Given the description of an element on the screen output the (x, y) to click on. 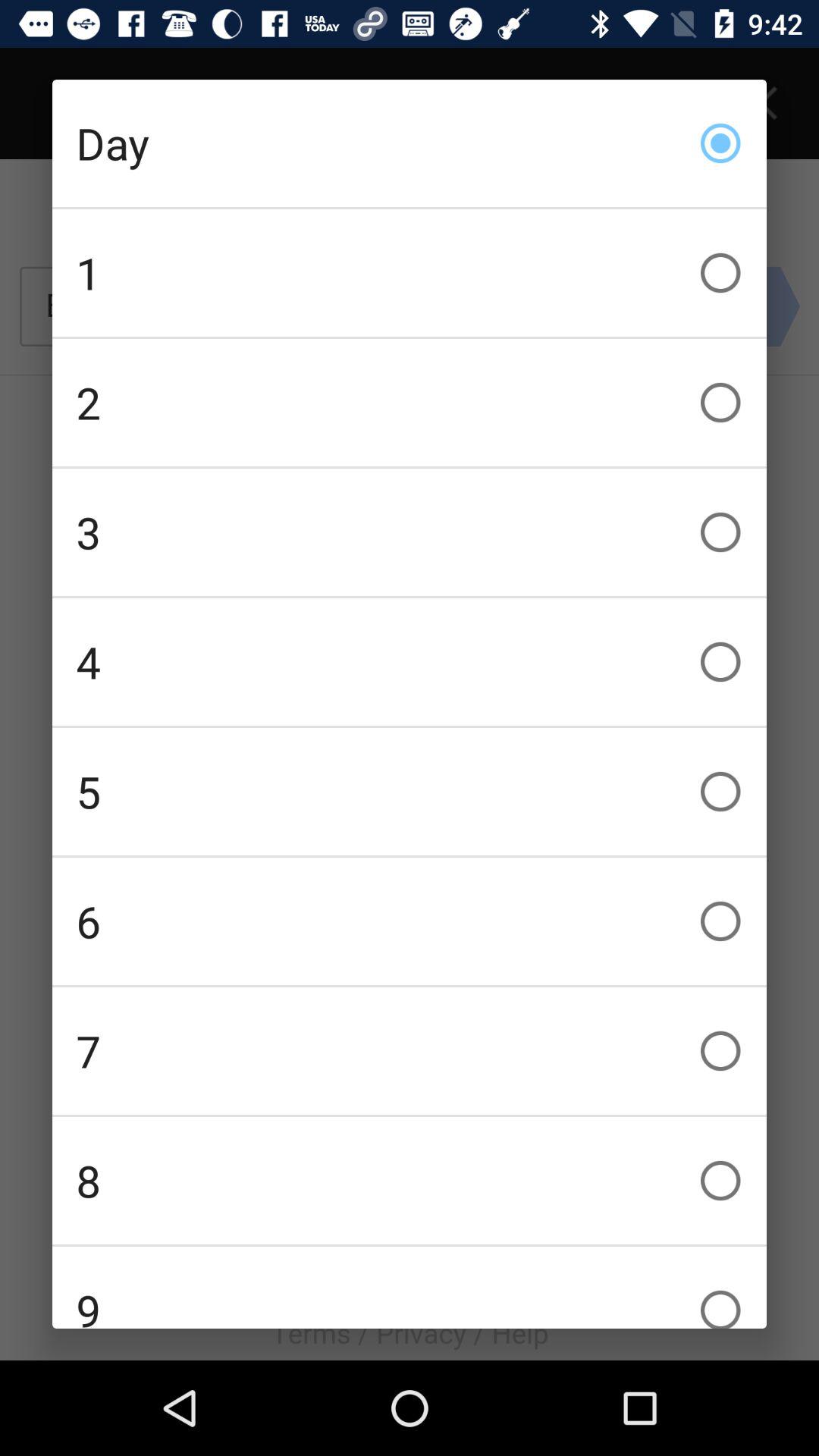
jump to 9 icon (409, 1287)
